Given the description of an element on the screen output the (x, y) to click on. 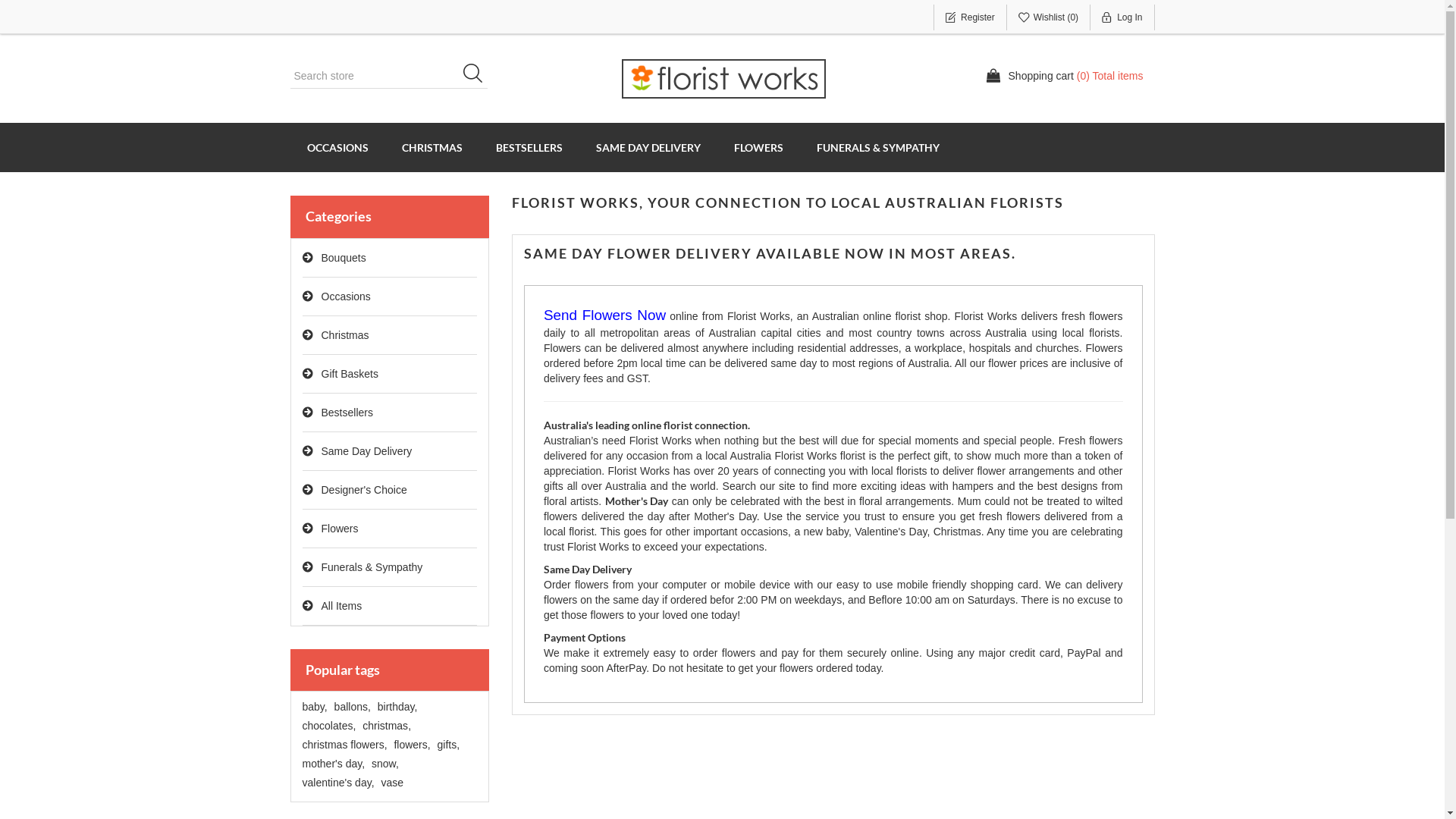
ballons, Element type: text (352, 706)
Register Element type: text (970, 17)
christmas, Element type: text (386, 725)
Occasions Element type: text (388, 296)
birthday, Element type: text (397, 706)
FUNERALS & SYMPATHY Element type: text (877, 147)
baby, Element type: text (313, 706)
SAME DAY DELIVERY Element type: text (648, 147)
valentine's day, Element type: text (337, 782)
Log In Element type: text (1122, 17)
All Items Element type: text (388, 605)
Bouquets Element type: text (388, 257)
BESTSELLERS Element type: text (529, 147)
Christmas Element type: text (388, 335)
Designer's Choice Element type: text (388, 489)
flowers, Element type: text (411, 744)
Flowers Element type: text (388, 528)
snow, Element type: text (384, 763)
Bestsellers Element type: text (388, 412)
vase Element type: text (391, 782)
OCCASIONS Element type: text (336, 147)
chocolates, Element type: text (328, 725)
Shopping cart (0) Total items Element type: text (1064, 75)
Gift Baskets Element type: text (388, 373)
Same Day Delivery Element type: text (388, 451)
Wishlist (0) Element type: text (1048, 17)
mother's day, Element type: text (332, 763)
Send Flowers Now Element type: text (604, 316)
christmas flowers, Element type: text (343, 744)
Funerals & Sympathy Element type: text (388, 567)
CHRISTMAS Element type: text (432, 147)
gifts, Element type: text (448, 744)
FLOWERS Element type: text (758, 147)
